Given the description of an element on the screen output the (x, y) to click on. 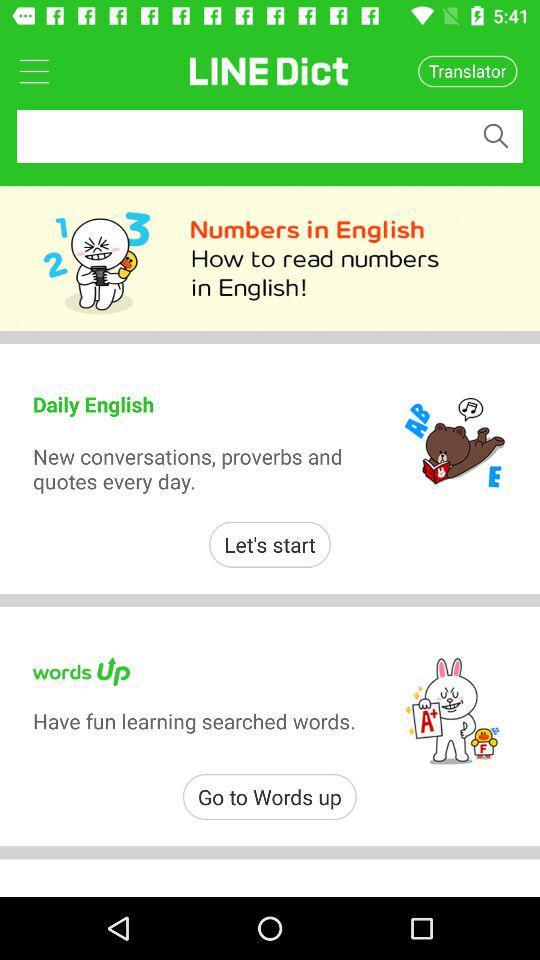
launch the icon below the new conversations proverbs (269, 544)
